Given the description of an element on the screen output the (x, y) to click on. 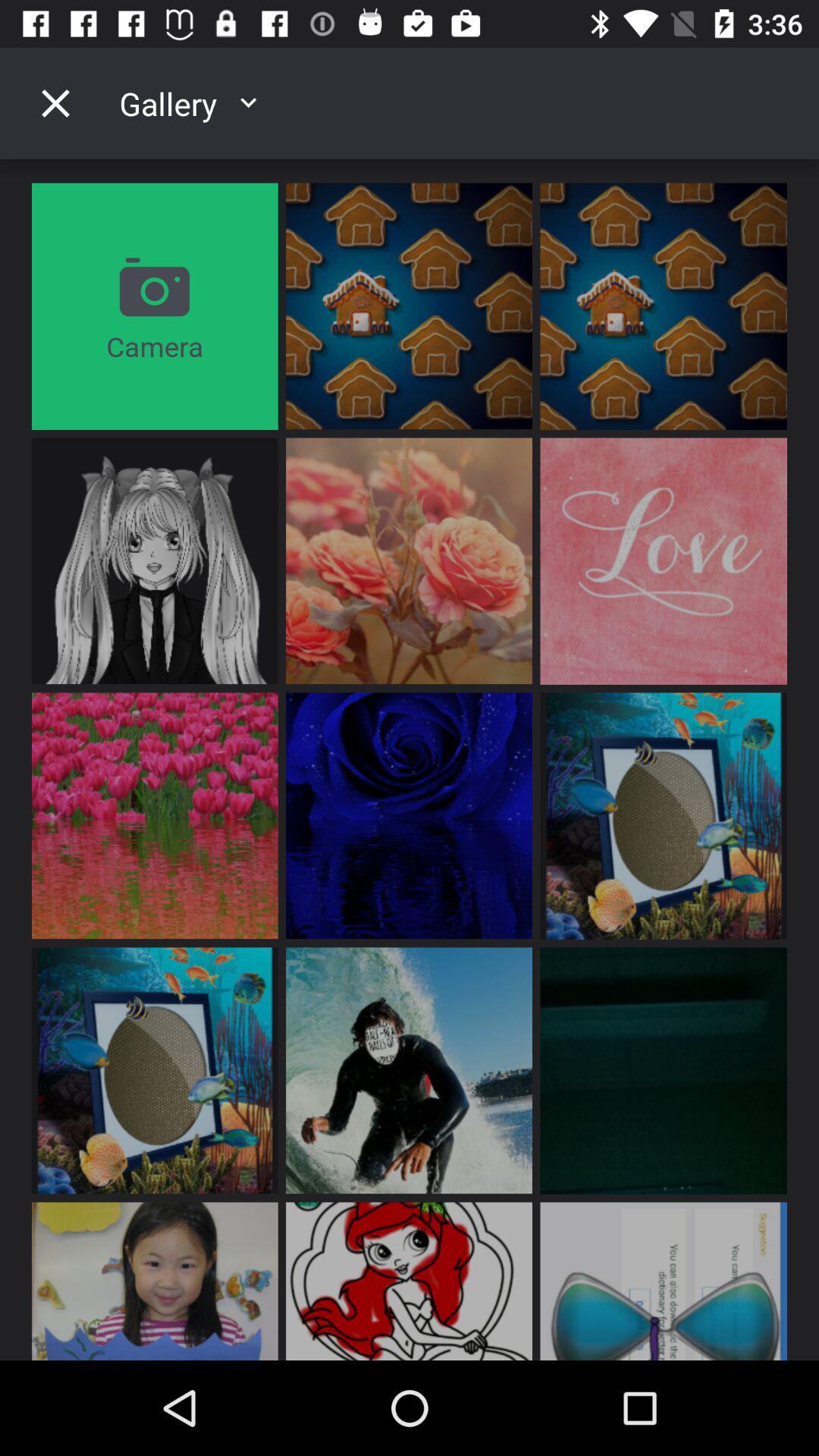
exit (55, 103)
